Given the description of an element on the screen output the (x, y) to click on. 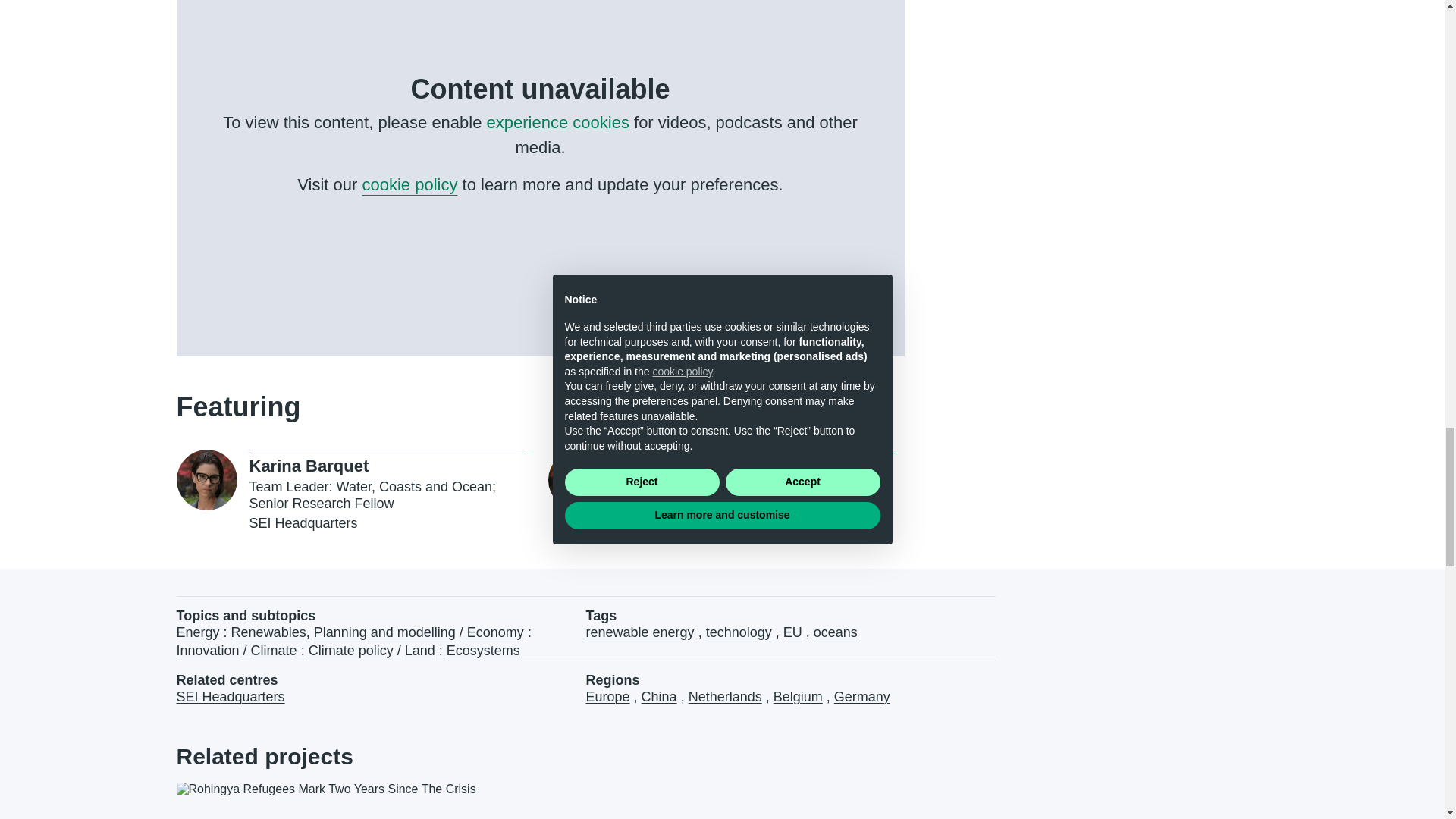
Webinar: Next steps for offshore energy production (418, 492)
